Given the description of an element on the screen output the (x, y) to click on. 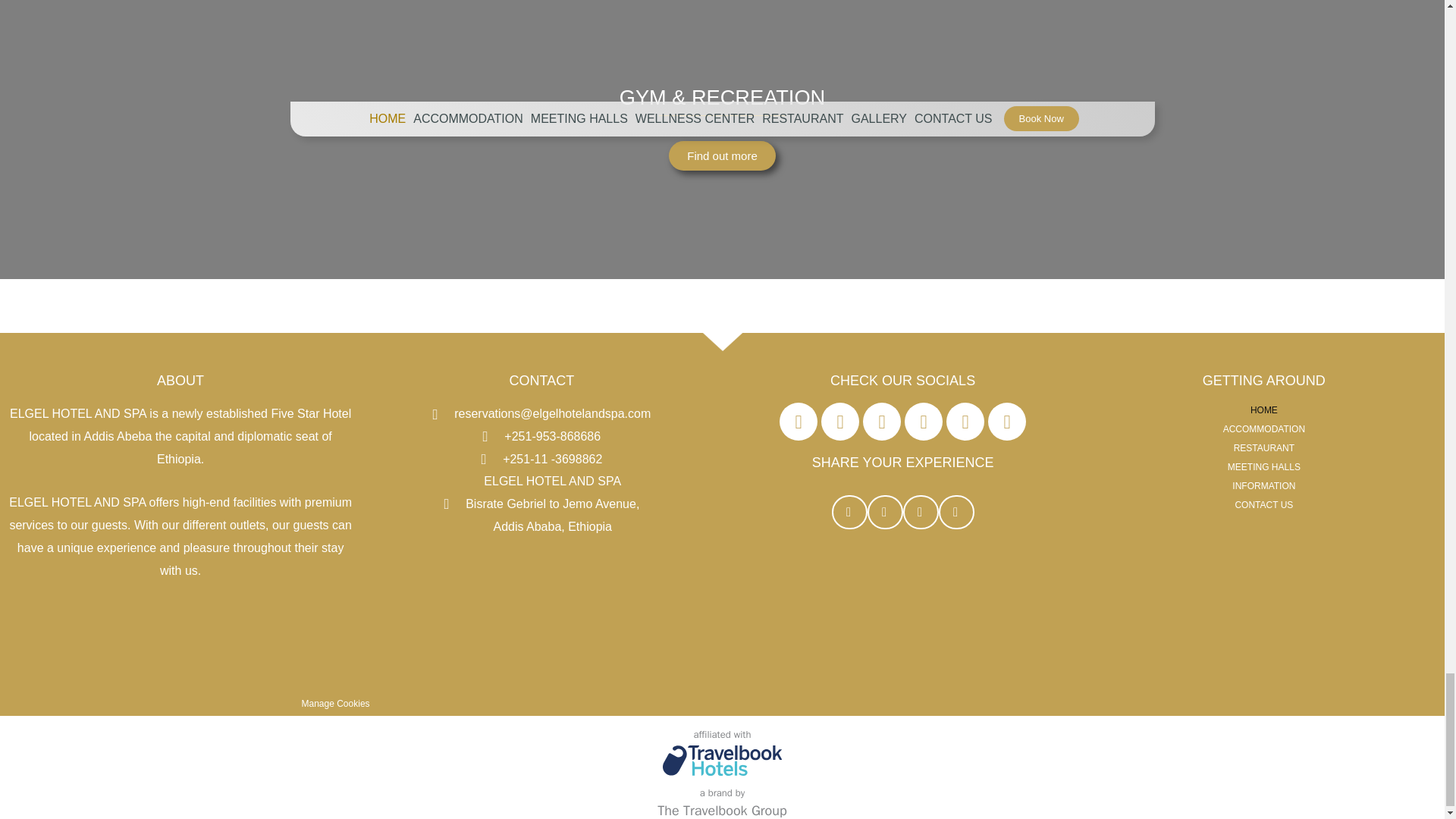
Facebook (797, 421)
Find out more (722, 155)
ELGEL HOTEL AND SPA, addis (541, 626)
